Given the description of an element on the screen output the (x, y) to click on. 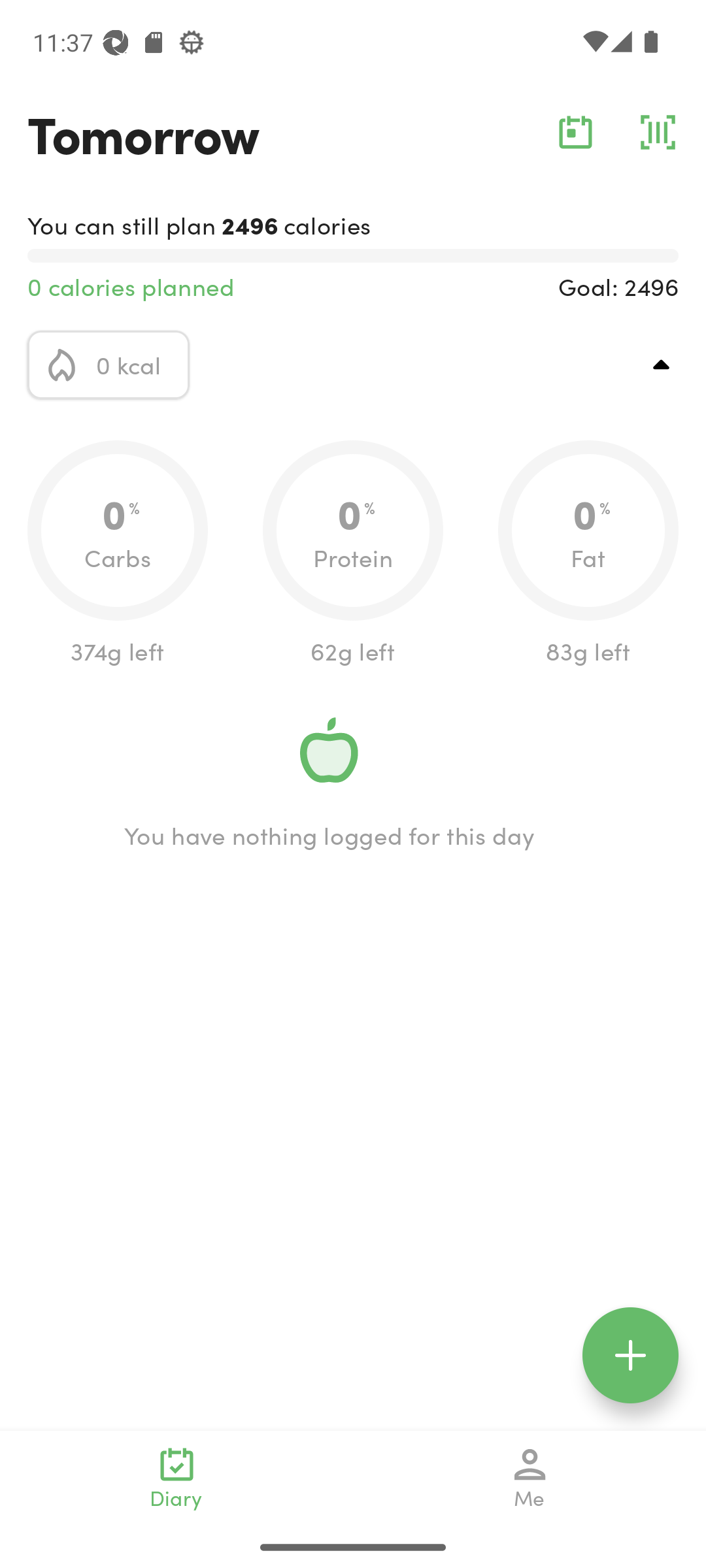
calendar_action (575, 132)
barcode_action (658, 132)
calorie_icon 0 kcal (108, 365)
top_right_action (661, 365)
0.0 0 % Carbs 374g left (117, 553)
0.0 0 % Protein 62g left (352, 553)
0.0 0 % Fat 83g left (588, 553)
floating_action_icon (630, 1355)
Me navigation_icon (529, 1478)
